Given the description of an element on the screen output the (x, y) to click on. 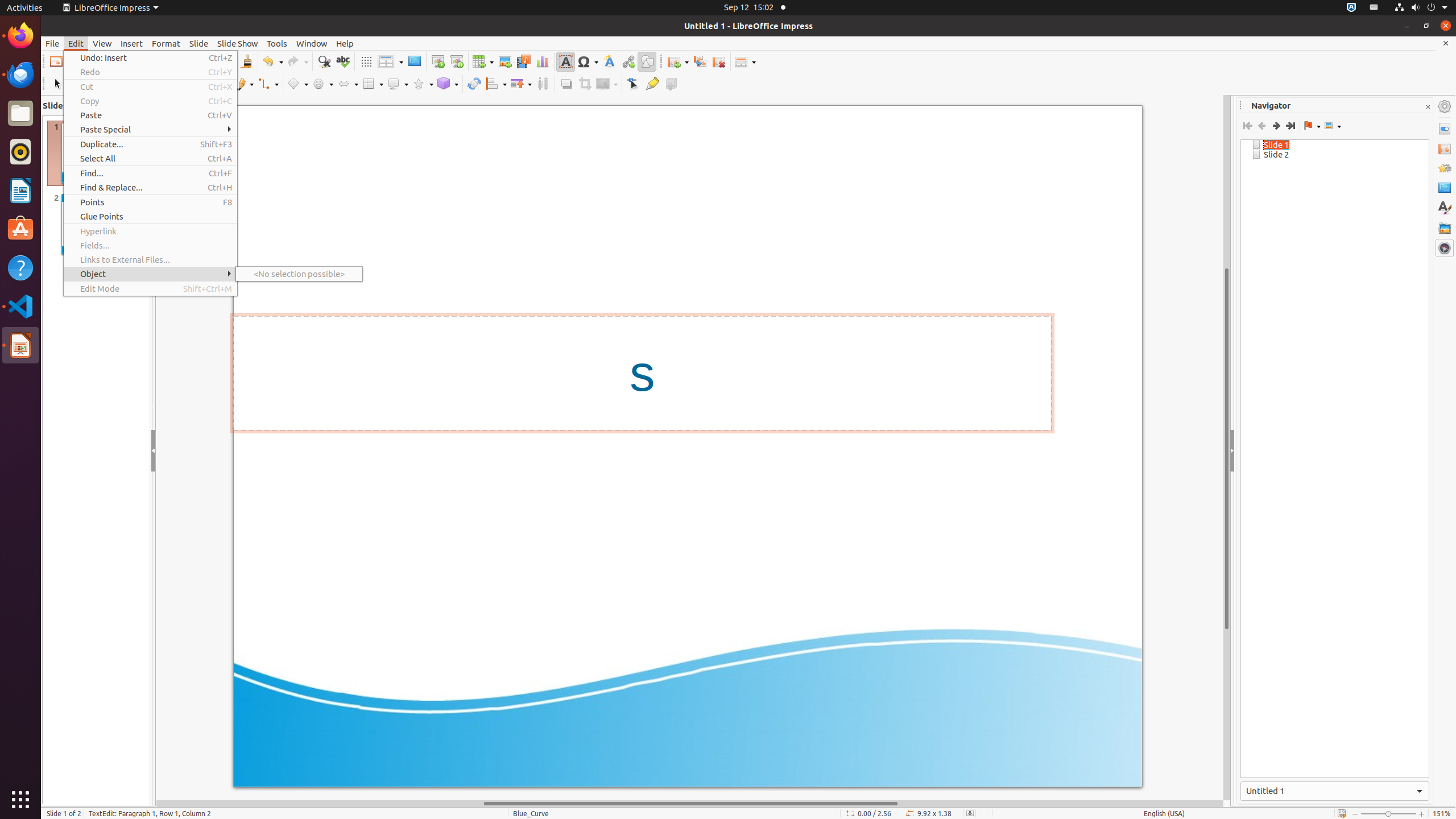
Drag Mode Element type: push-button (1311, 125)
:1.21/StatusNotifierItem Element type: menu (1373, 7)
<No selection possible> Element type: menu-item (299, 273)
Hyperlink Element type: menu-item (150, 231)
Ubuntu Software Element type: push-button (20, 229)
